Given the description of an element on the screen output the (x, y) to click on. 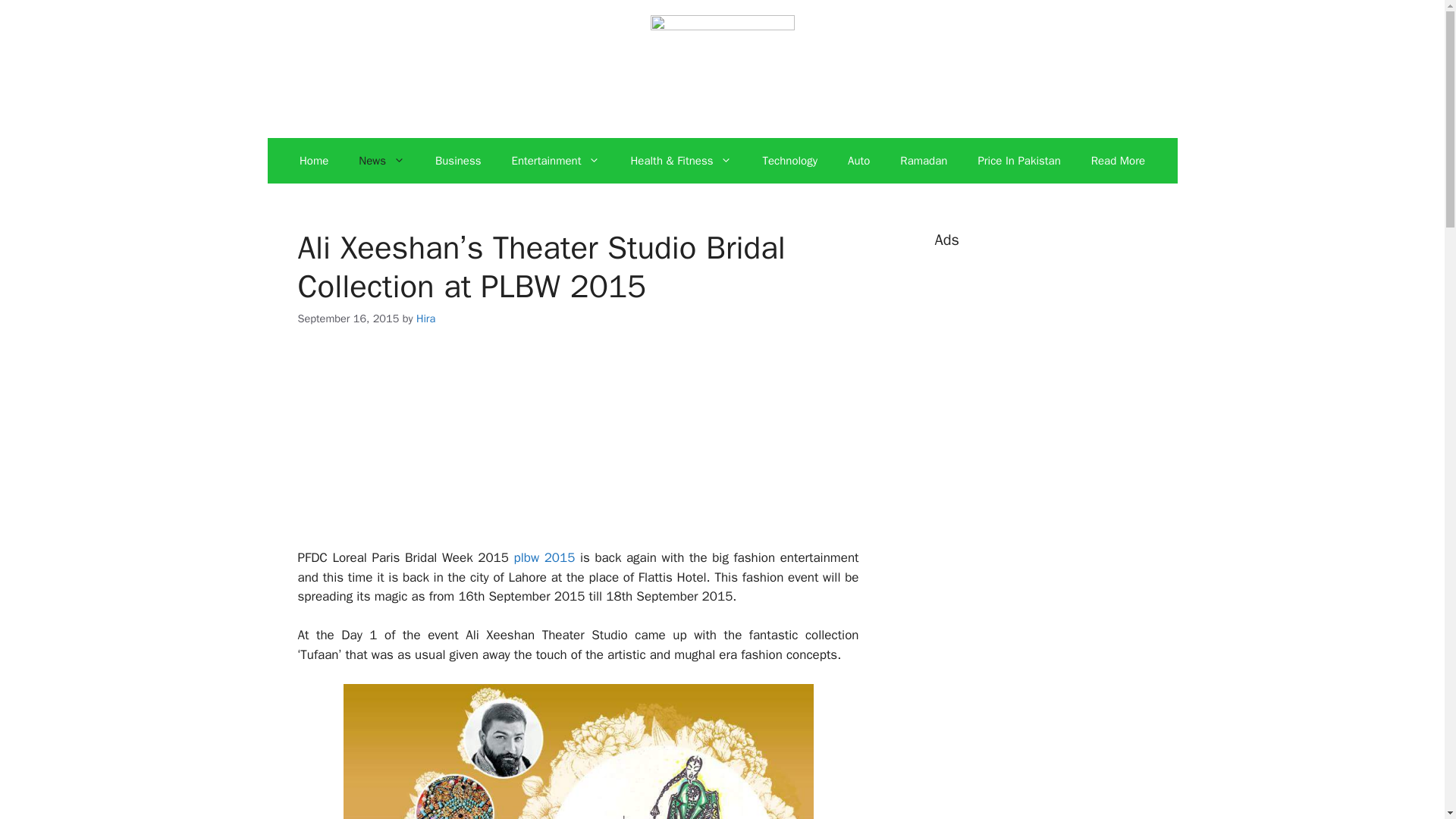
Read More (1117, 160)
Business (458, 160)
View all posts by Hira (425, 318)
plbw 2015 (544, 557)
Ramadan (923, 160)
News (381, 160)
Technology (789, 160)
Auto (858, 160)
Home (313, 160)
Entertainment (555, 160)
Price In Pakistan (1018, 160)
Hira (425, 318)
